Given the description of an element on the screen output the (x, y) to click on. 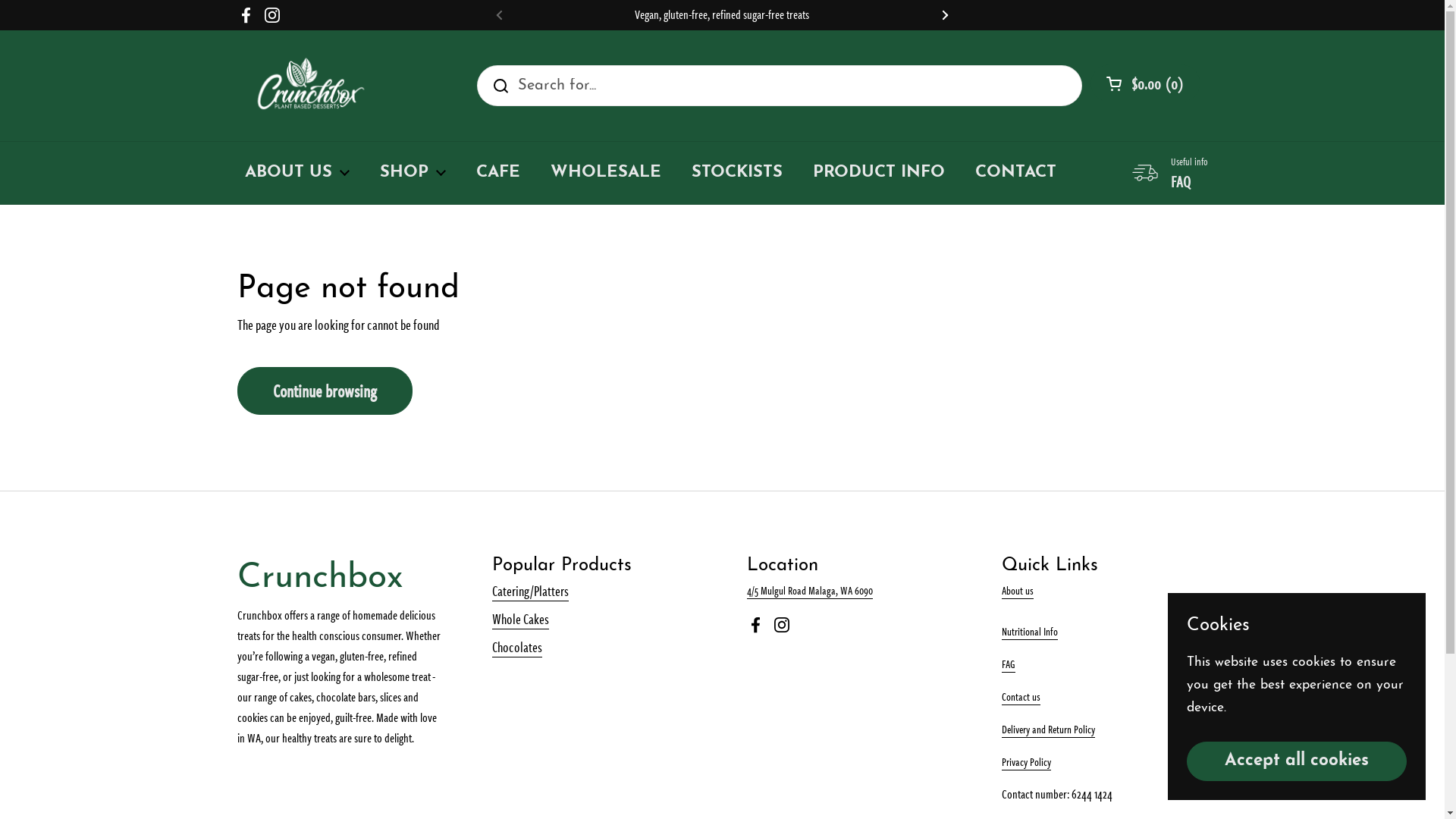
Useful info
FAQ Element type: text (1168, 172)
4/5 Mulgul Road Malaga, WA 6090 Element type: text (809, 590)
Whole Cakes Element type: text (519, 618)
STOCKISTS Element type: text (736, 172)
SHOP Element type: text (412, 172)
Crunchbox Element type: hover (310, 85)
Facebook Element type: text (755, 624)
Nutritional Info Element type: text (1029, 631)
Skip to content Element type: text (0, 0)
Chocolates Element type: text (516, 647)
Instagram Element type: text (780, 624)
FAG Element type: text (1007, 663)
PRODUCT INFO Element type: text (878, 172)
ABOUT US Element type: text (296, 172)
CAFE Element type: text (498, 172)
Catering/Platters Element type: text (529, 590)
Vegan, gluten-free, refined sugar-free treats Element type: text (721, 14)
Open cart
$0.00
0 Element type: text (1145, 83)
Delivery Available - All areas of Perth Element type: text (1168, 14)
Accept all cookies Element type: text (1296, 761)
CONTACT Element type: text (1015, 172)
About us Element type: text (1016, 600)
Continue browsing Element type: text (323, 390)
Facebook Element type: text (245, 15)
Instagram Element type: text (271, 15)
WHOLESALE Element type: text (605, 172)
Privacy Policy Element type: text (1025, 761)
Delivery and Return Policy Element type: text (1047, 729)
Contact us Element type: text (1020, 696)
